Given the description of an element on the screen output the (x, y) to click on. 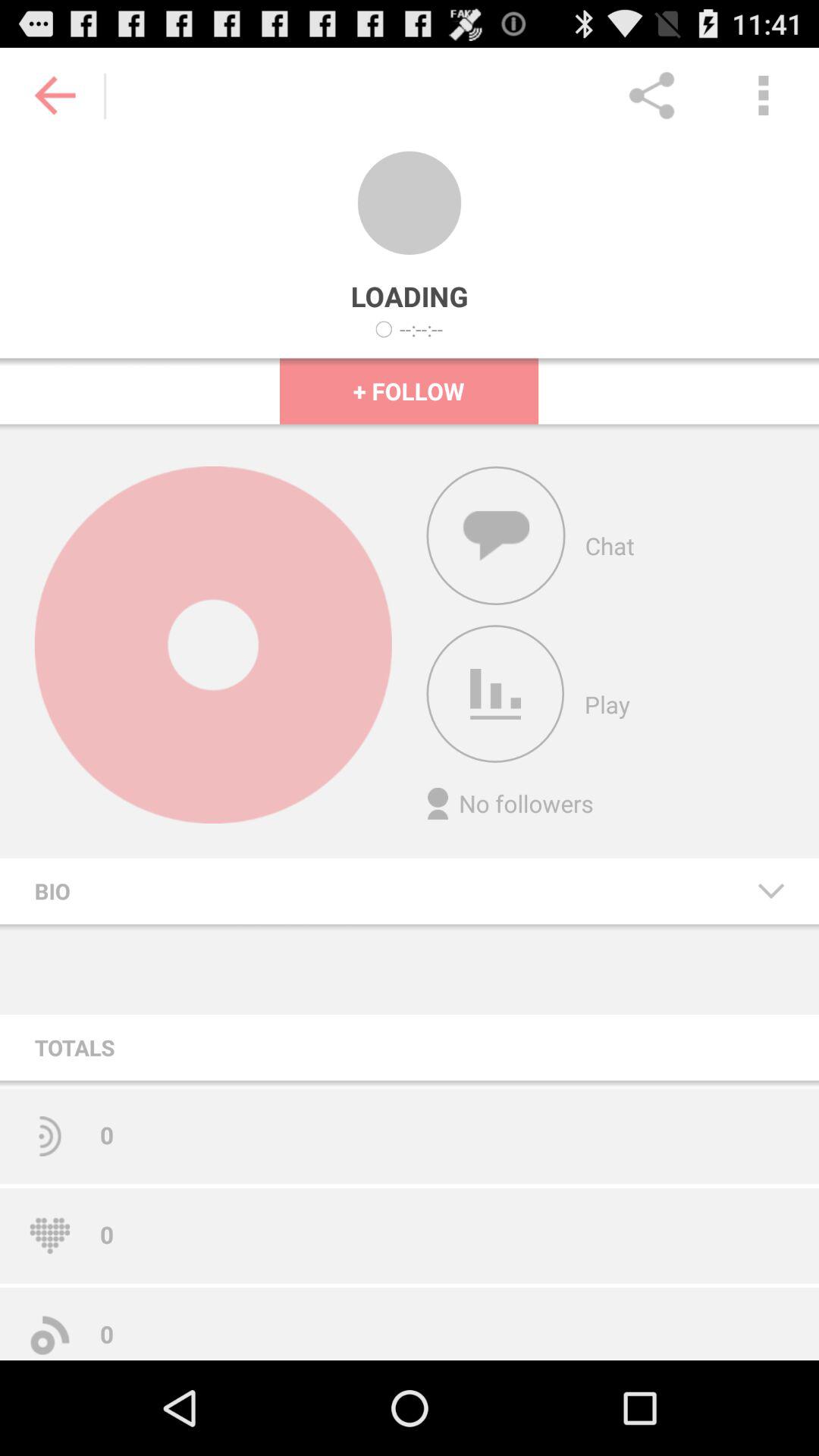
flip to the + follow (408, 391)
